Given the description of an element on the screen output the (x, y) to click on. 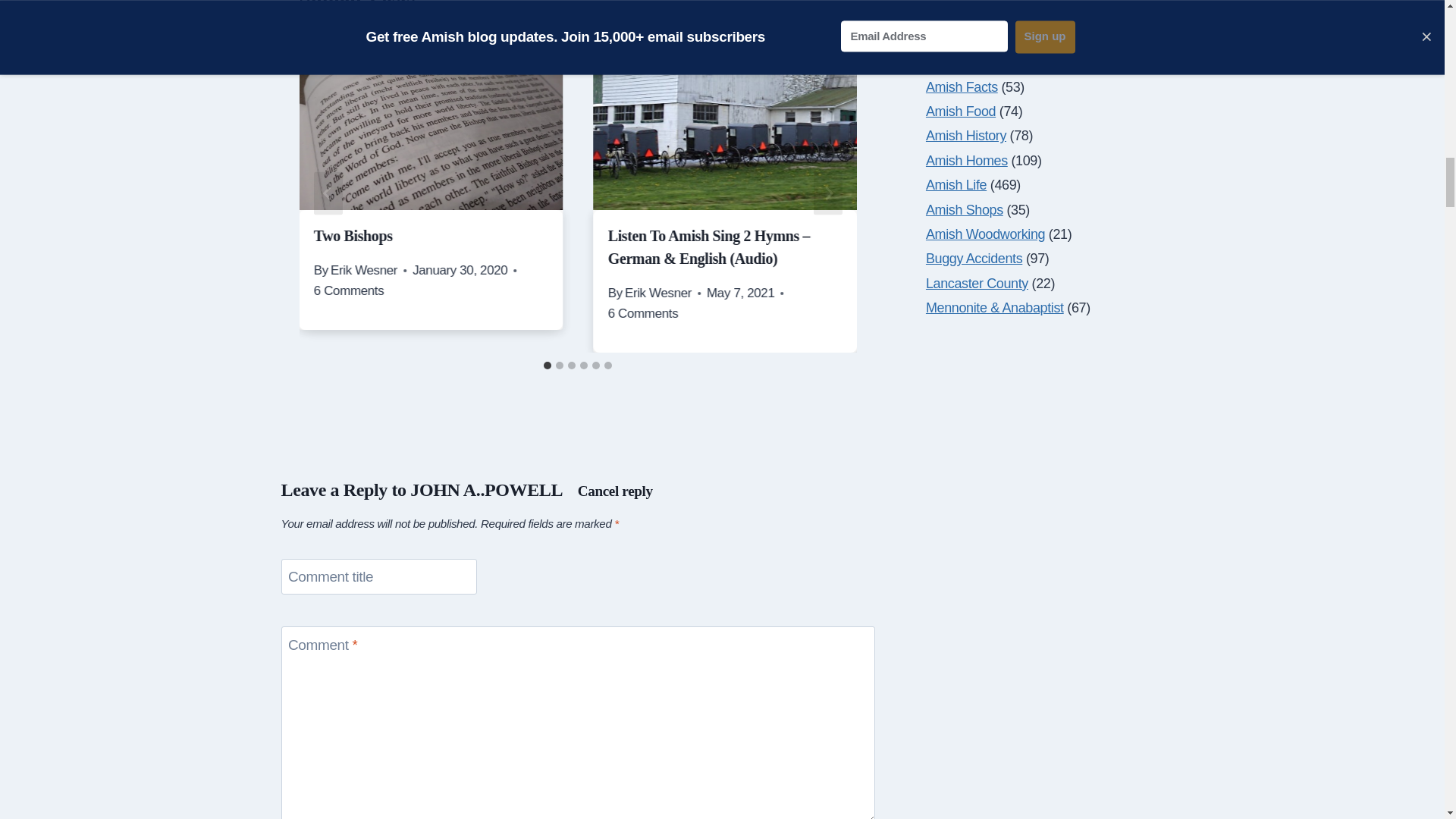
6 Comments (643, 313)
6 Comments (349, 290)
